Given the description of an element on the screen output the (x, y) to click on. 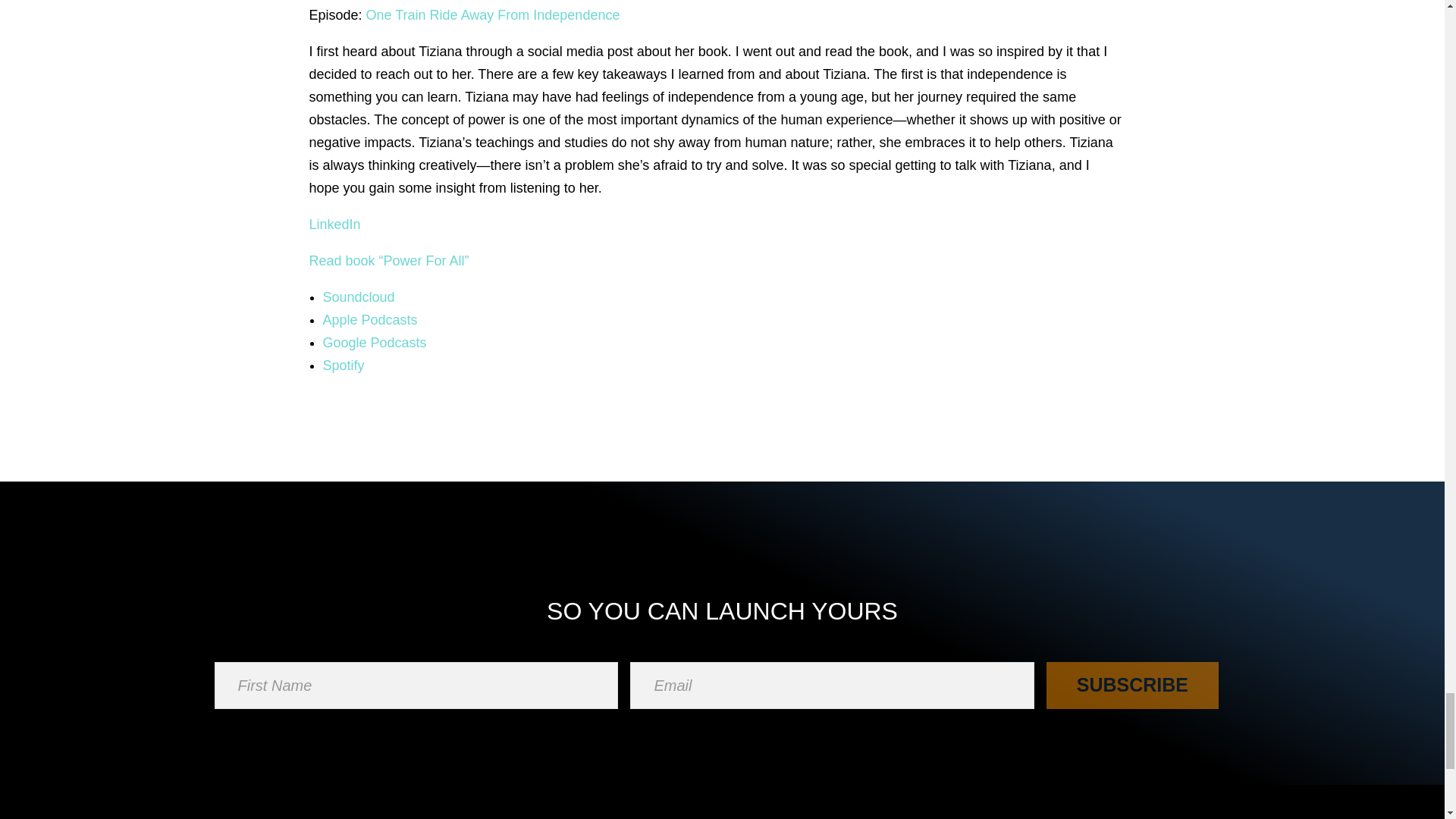
Subscribe (1131, 685)
